Given the description of an element on the screen output the (x, y) to click on. 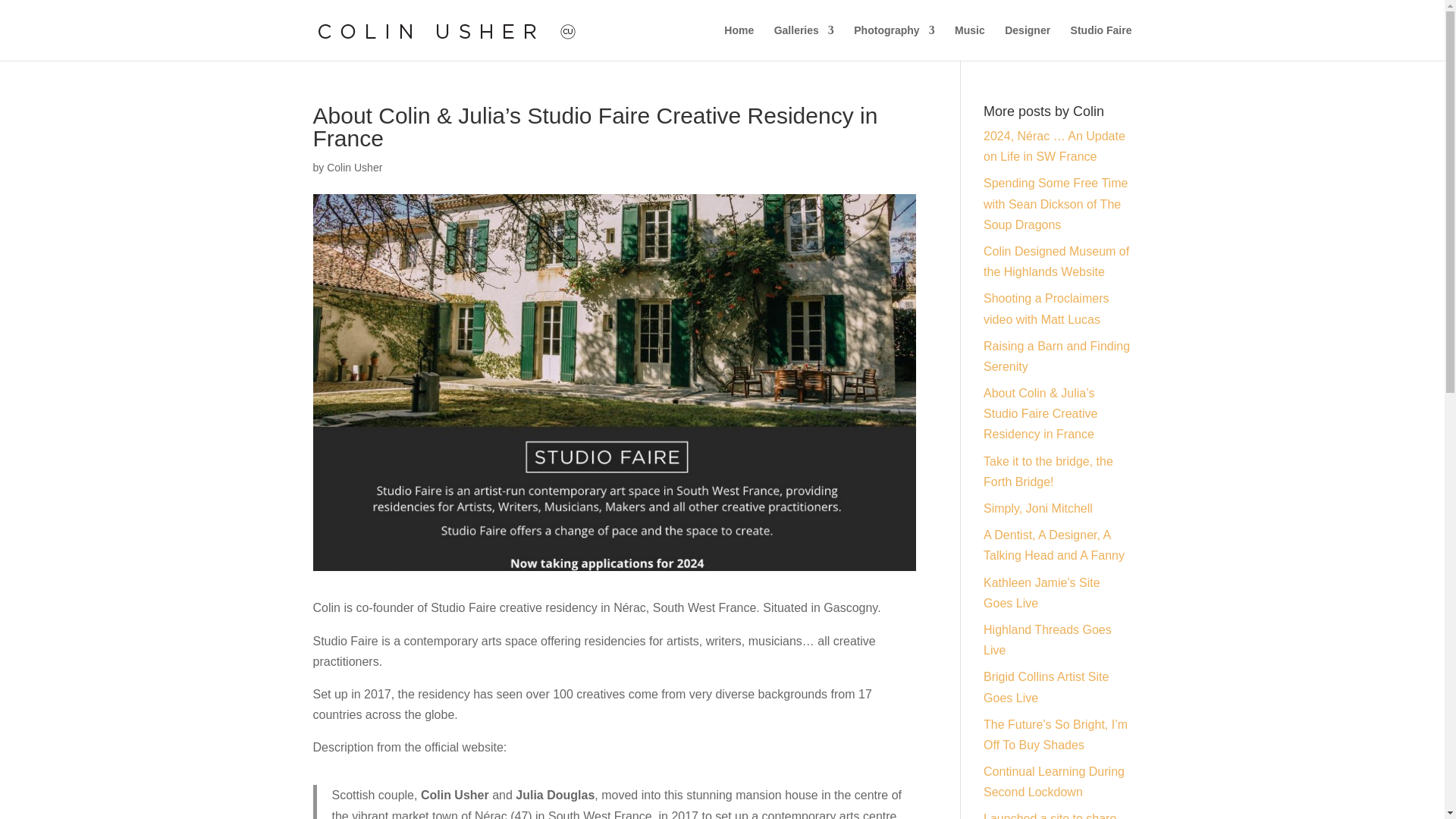
A Dentist, A Designer, A Talking Head and A Fanny (1054, 544)
Colin Designed Museum of the Highlands Website (1056, 261)
Take it to the bridge, the Forth Bridge! (1048, 471)
Studio Faire (1101, 42)
Simply, Joni Mitchell (1038, 508)
Photography (893, 42)
Brigid Collins Artist Site Goes Live (1046, 686)
Colin Usher (353, 167)
Galleries (804, 42)
